Given the description of an element on the screen output the (x, y) to click on. 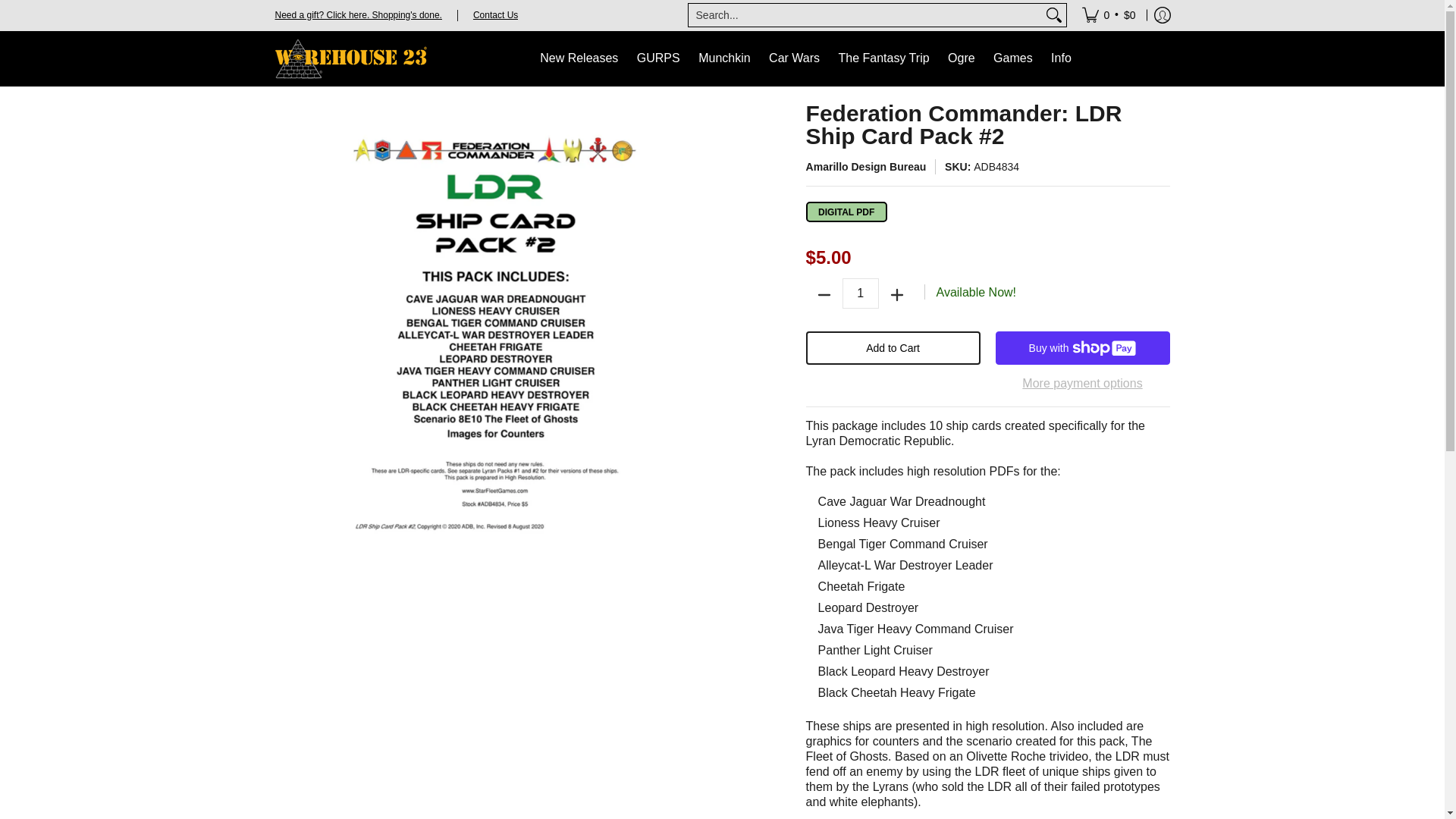
Need a gift? Click here. Shopping's done. (358, 14)
Contact Us (495, 14)
Warehouse 23 Gift Certificate (358, 14)
1 (861, 293)
Games (1013, 58)
GURPS (657, 58)
The Fantasy Trip (884, 58)
Munchkin (723, 58)
Games (1013, 58)
New Releases (579, 58)
Car Wars (794, 58)
New Releases (579, 58)
Log in (1161, 15)
GURPS (657, 58)
Warehouse 23 (350, 58)
